Given the description of an element on the screen output the (x, y) to click on. 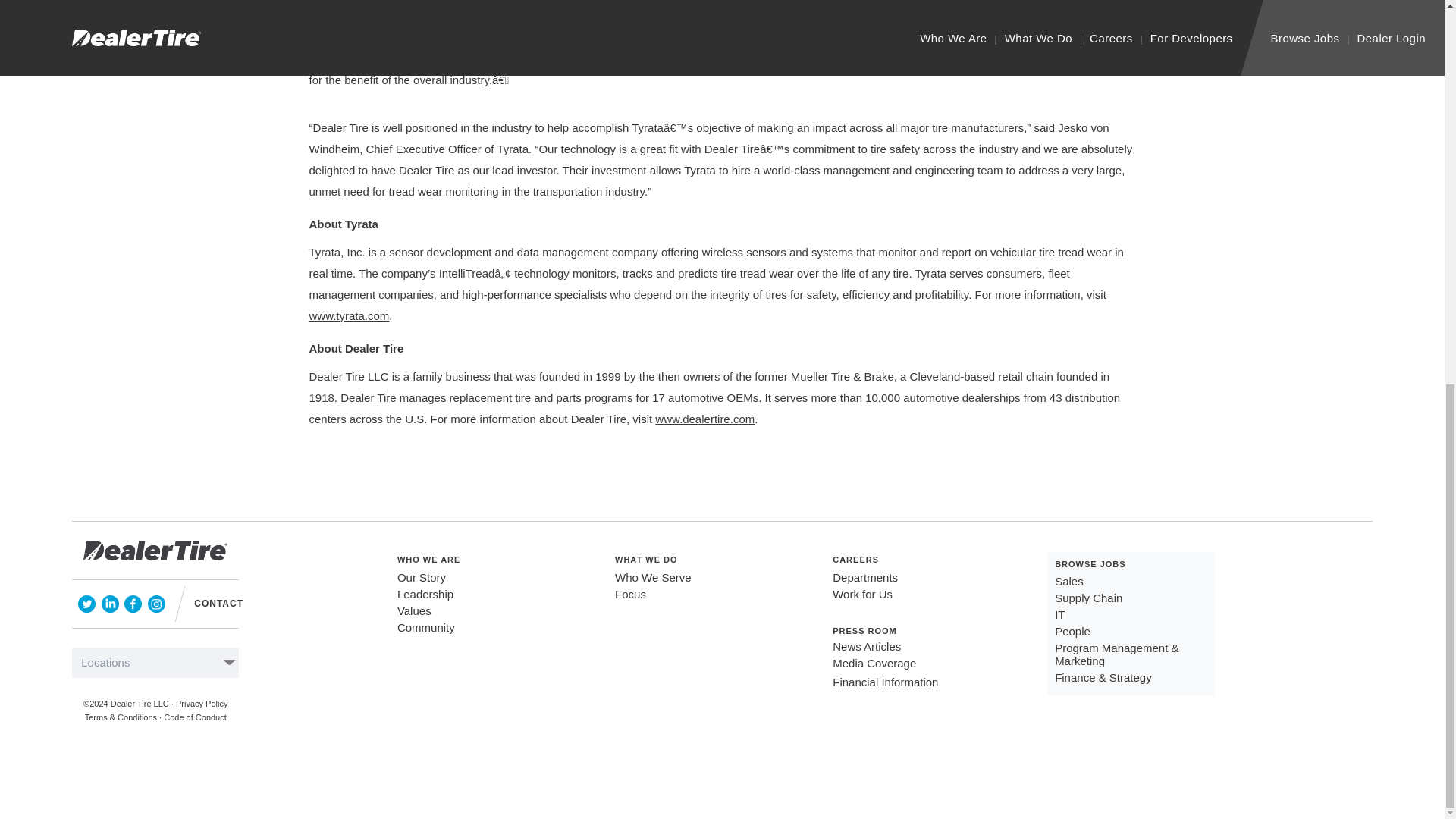
Our Story (421, 576)
Who We Serve (652, 576)
Privacy Policy (201, 703)
Sales (1068, 581)
PRESS ROOM (864, 630)
Code of Conduct (195, 716)
WHAT WE DO (646, 559)
Media Coverage (873, 662)
CAREERS (855, 559)
Focus (630, 594)
WHO WE ARE (429, 559)
Leadership (424, 594)
Values (413, 610)
www.tyrata.com (349, 315)
Work for Us (862, 594)
